Given the description of an element on the screen output the (x, y) to click on. 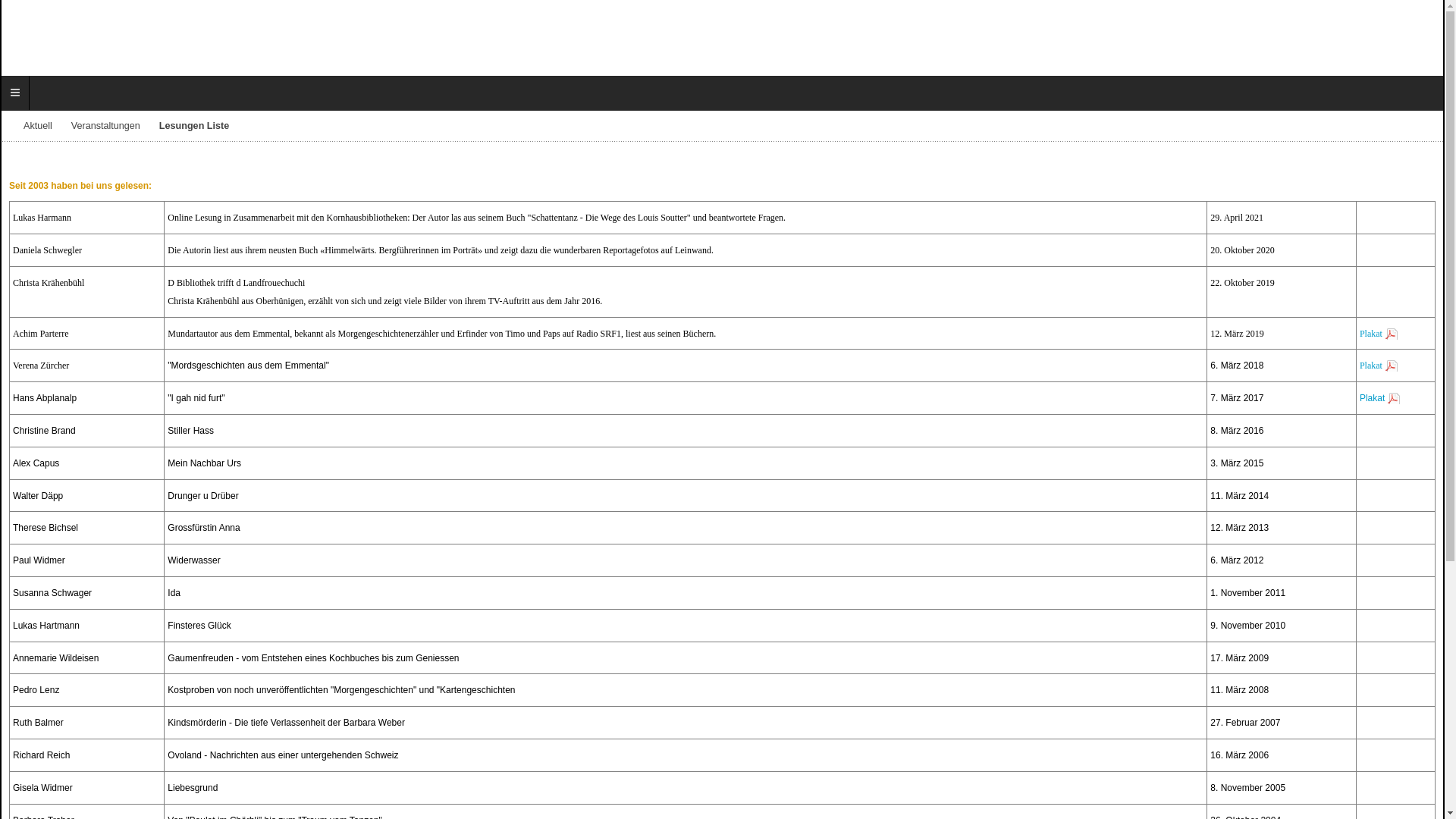
Aktuelle Seite:  Element type: hover (17, 126)
Instagram Element type: text (1422, 37)
Veranstaltungen Element type: text (115, 125)
Plakat Element type: text (1378, 333)
Aktuell Element type: text (47, 125)
Plakat Element type: text (1378, 365)
Plakat Element type: text (1379, 398)
